Given the description of an element on the screen output the (x, y) to click on. 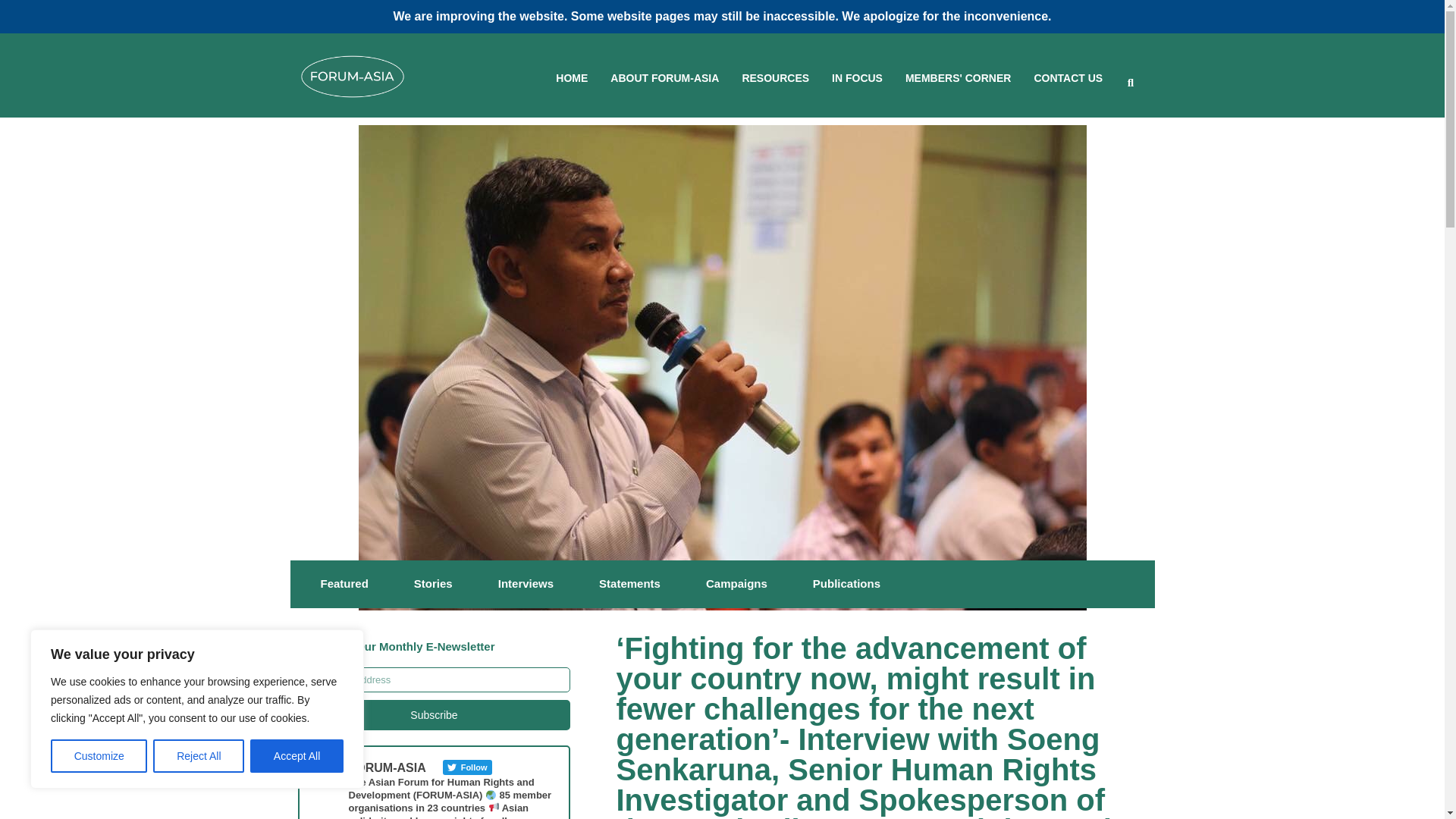
ABOUT FORUM-ASIA (664, 78)
Customize (98, 756)
RESOURCES (774, 78)
Accept All (296, 756)
IN FOCUS (856, 78)
MEMBERS' CORNER (957, 78)
HOME (571, 78)
Reject All (198, 756)
